Given the description of an element on the screen output the (x, y) to click on. 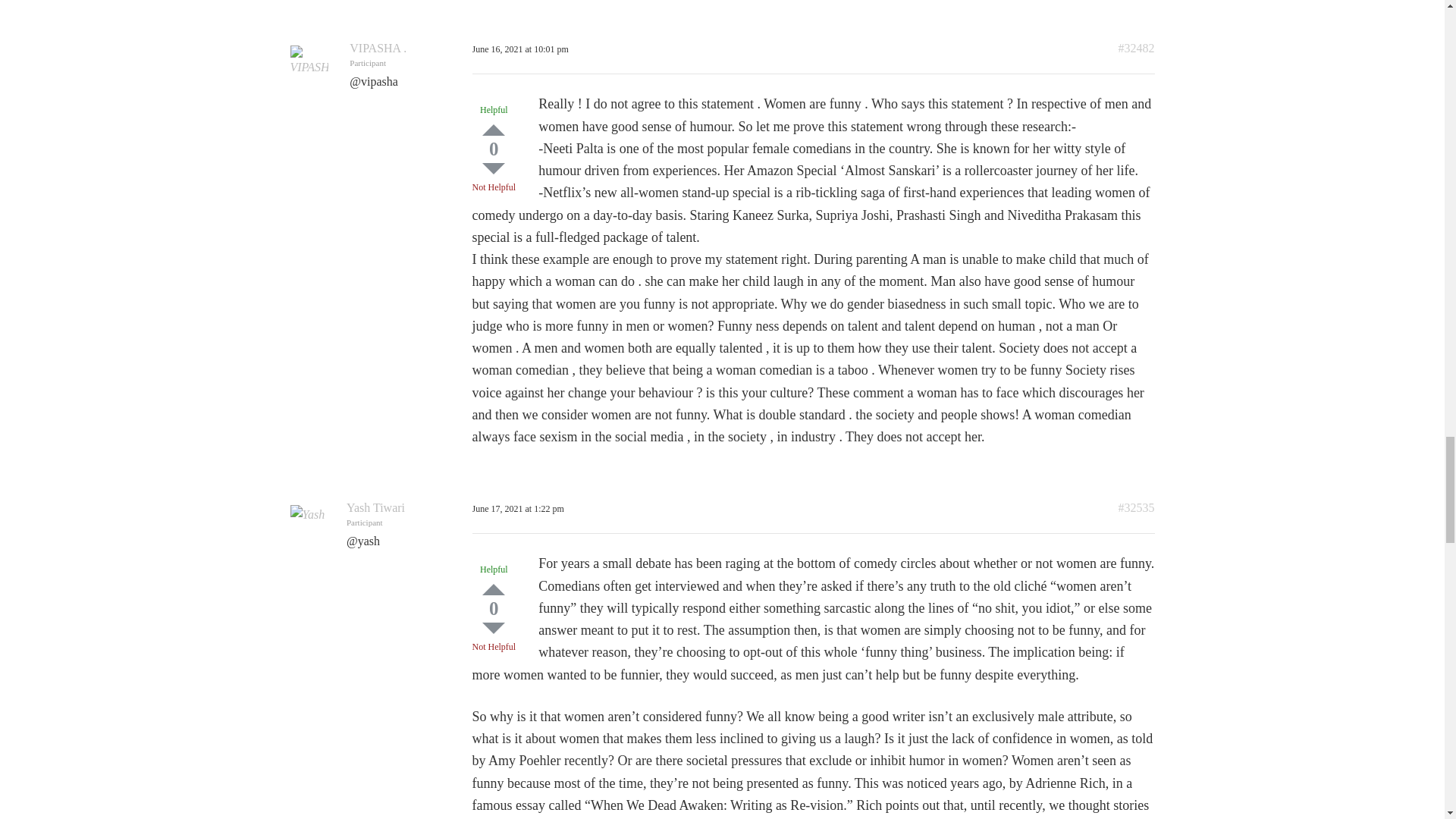
View VIPASHA .'s profile (377, 47)
